Given the description of an element on the screen output the (x, y) to click on. 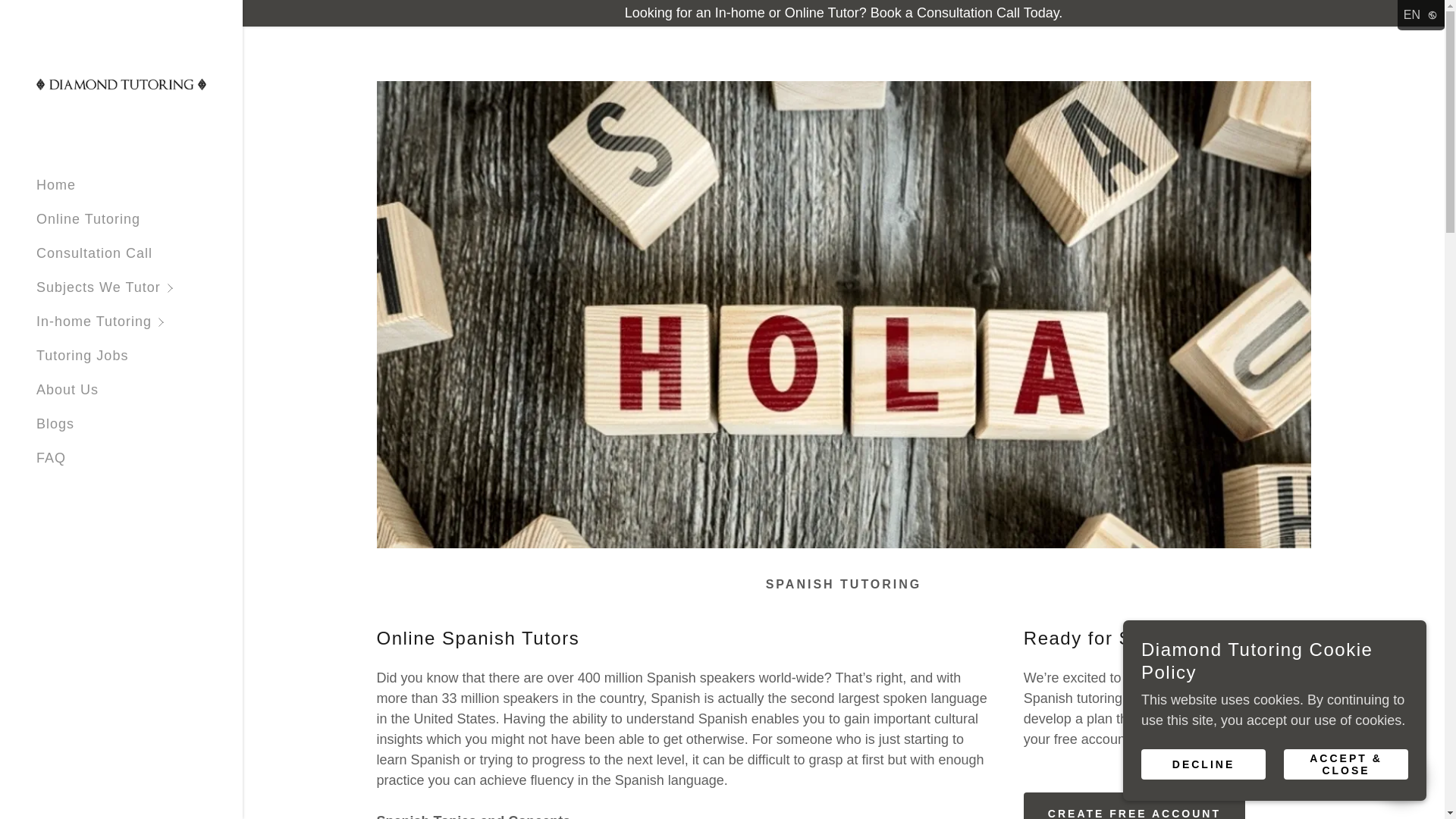
FAQ (50, 458)
Tutoring Jobs (82, 355)
Consultation Call (94, 253)
About Us (67, 389)
Subjects We Tutor (139, 287)
Blogs (55, 423)
Online Tutoring (87, 218)
In-home Tutoring (139, 321)
Home (55, 184)
